Given the description of an element on the screen output the (x, y) to click on. 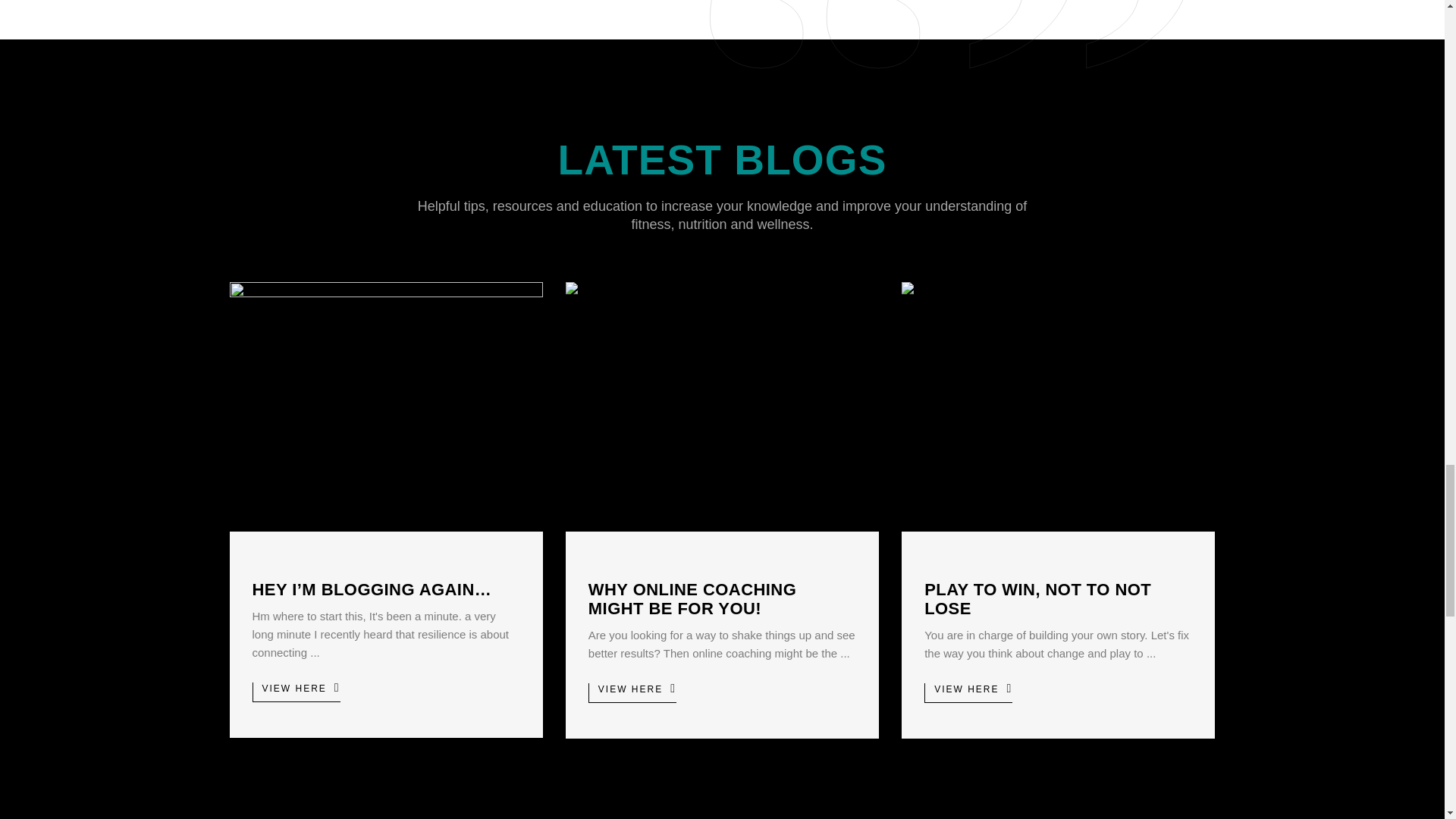
PLAY TO WIN, NOT TO NOT LOSE (1037, 598)
Play To Win, Not To Not Lose (1037, 598)
VIEW HERE (967, 692)
WHY ONLINE COACHING MIGHT BE FOR YOU! (692, 598)
VIEW HERE (295, 691)
Why Online Coaching Might Be For You! (722, 406)
VIEW HERE (632, 692)
Why Online Coaching Might Be For You! (692, 598)
Play To Win, Not To Not Lose (1057, 406)
